Given the description of an element on the screen output the (x, y) to click on. 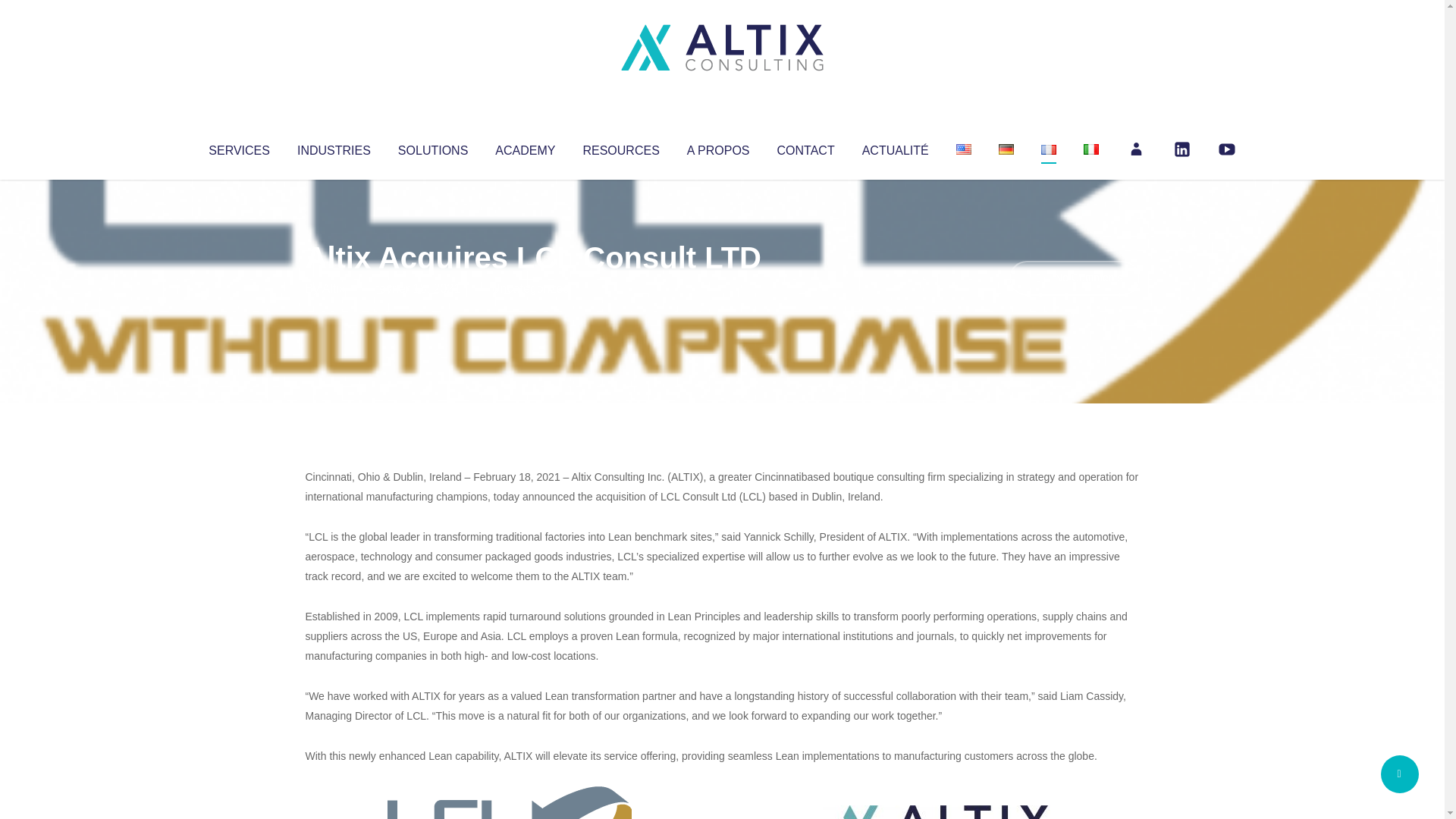
SOLUTIONS (432, 146)
Articles par Altix (333, 287)
No Comments (1073, 278)
SERVICES (238, 146)
Altix (333, 287)
INDUSTRIES (334, 146)
A PROPOS (718, 146)
ACADEMY (524, 146)
Uncategorized (530, 287)
RESOURCES (620, 146)
